Given the description of an element on the screen output the (x, y) to click on. 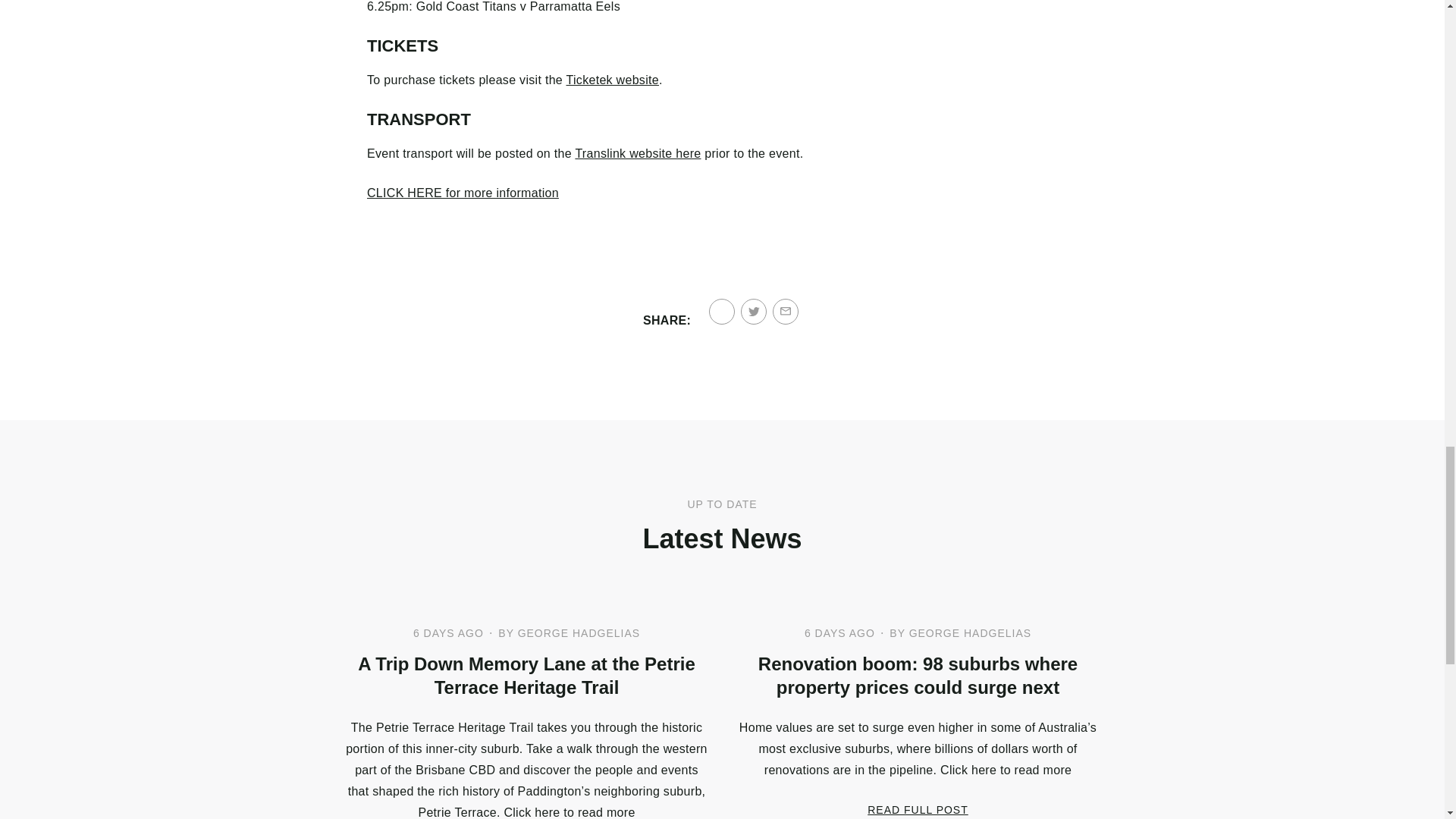
Facebook (722, 311)
Email (785, 311)
CLICK HERE for more information (462, 192)
Ticketek website (612, 79)
A Trip Down Memory Lane at the Petrie Terrace Heritage Trail (526, 675)
Translink website here (637, 153)
Twitter (754, 311)
READ FULL POST (917, 809)
